Given the description of an element on the screen output the (x, y) to click on. 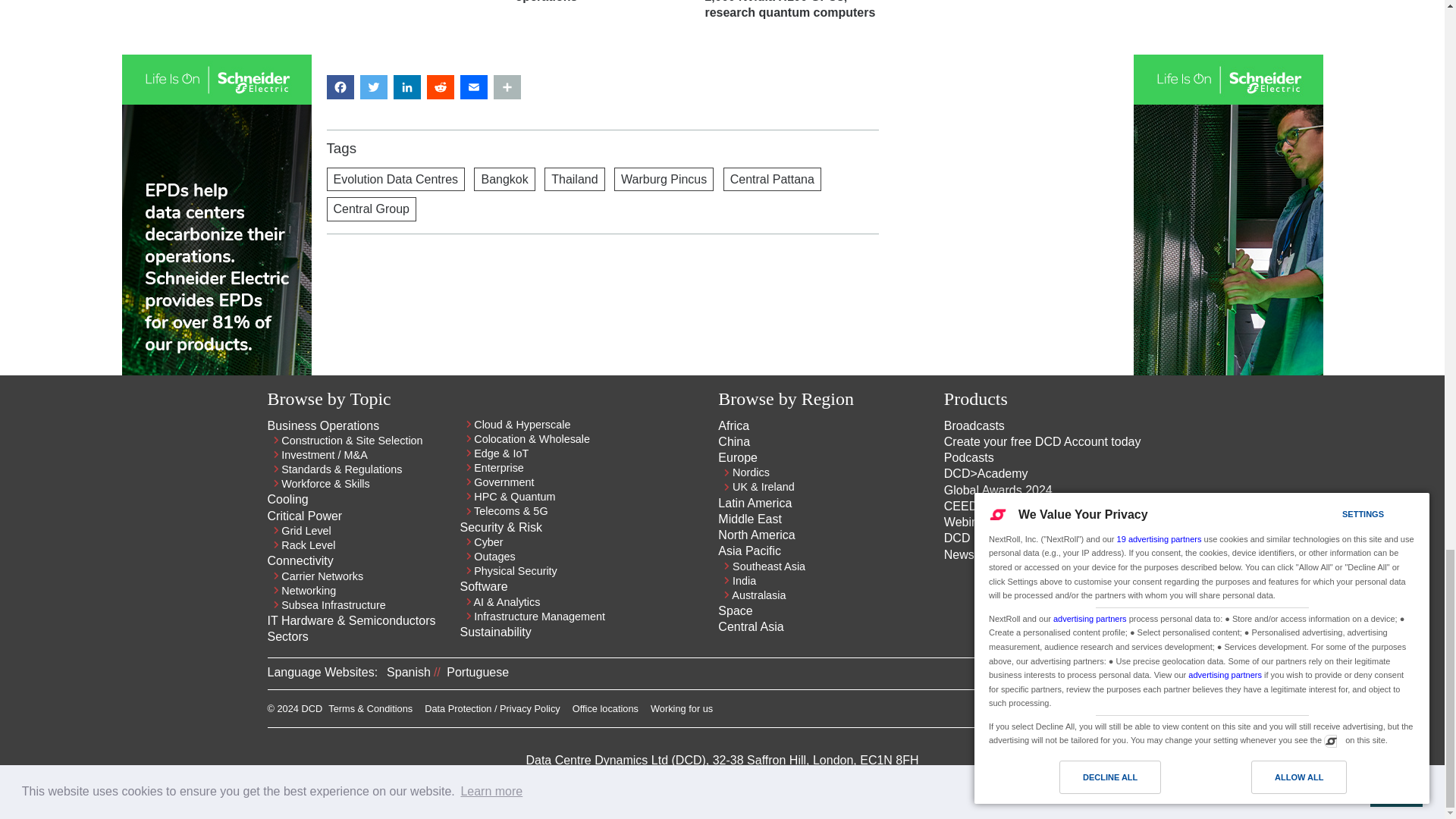
Linkedin (1113, 711)
3rd party ad content (601, 298)
Twitter (1140, 711)
Facebook (1167, 711)
